Given the description of an element on the screen output the (x, y) to click on. 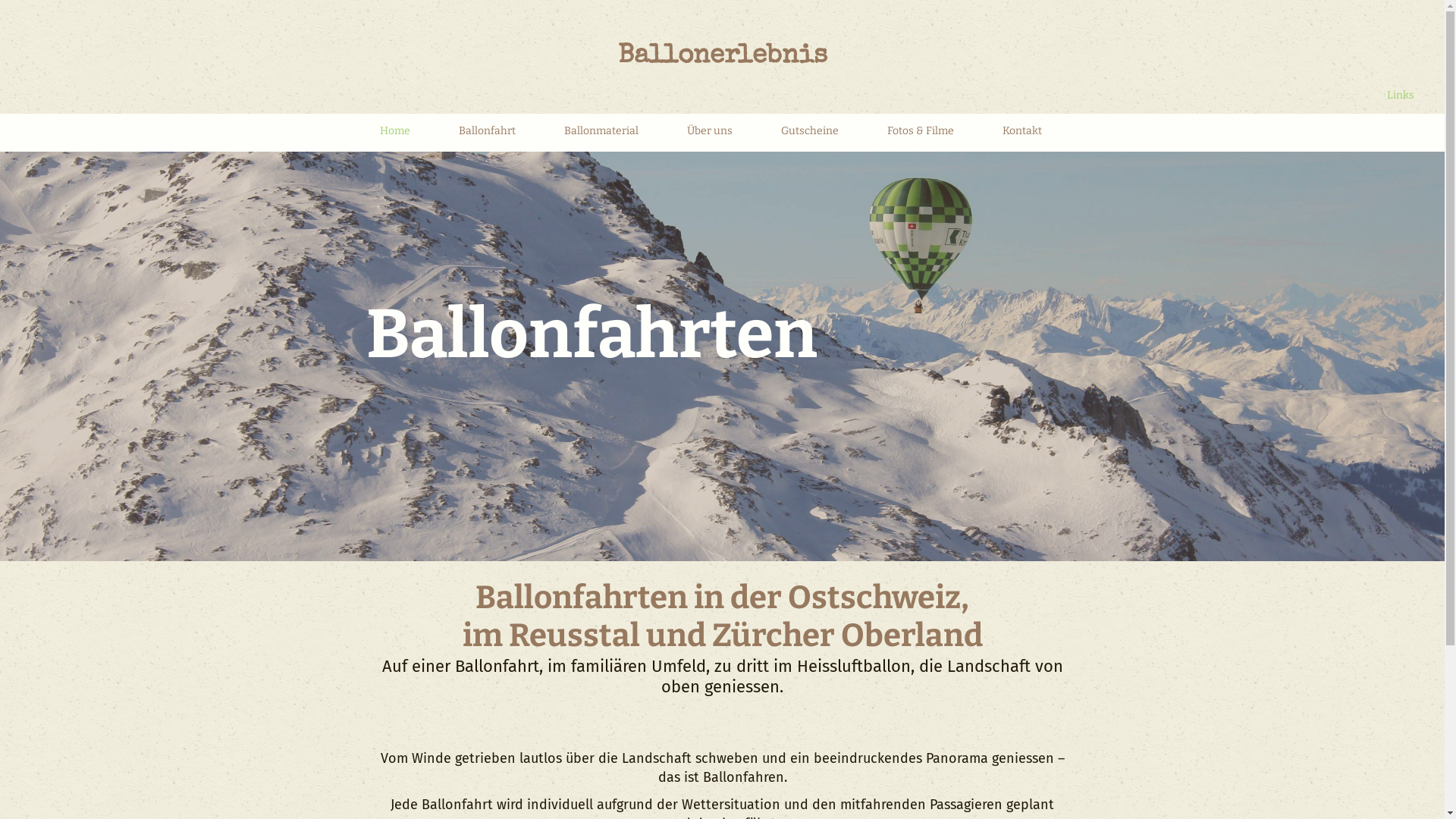
Ballonfahrt Element type: text (486, 134)
Links Element type: text (1400, 95)
Ballonerlebnis Element type: text (721, 56)
Ballonmaterial Element type: text (601, 134)
Gutscheine Element type: text (809, 134)
Fotos & Filme Element type: text (920, 134)
Kontakt Element type: text (1021, 134)
Home Element type: text (394, 134)
